Given the description of an element on the screen output the (x, y) to click on. 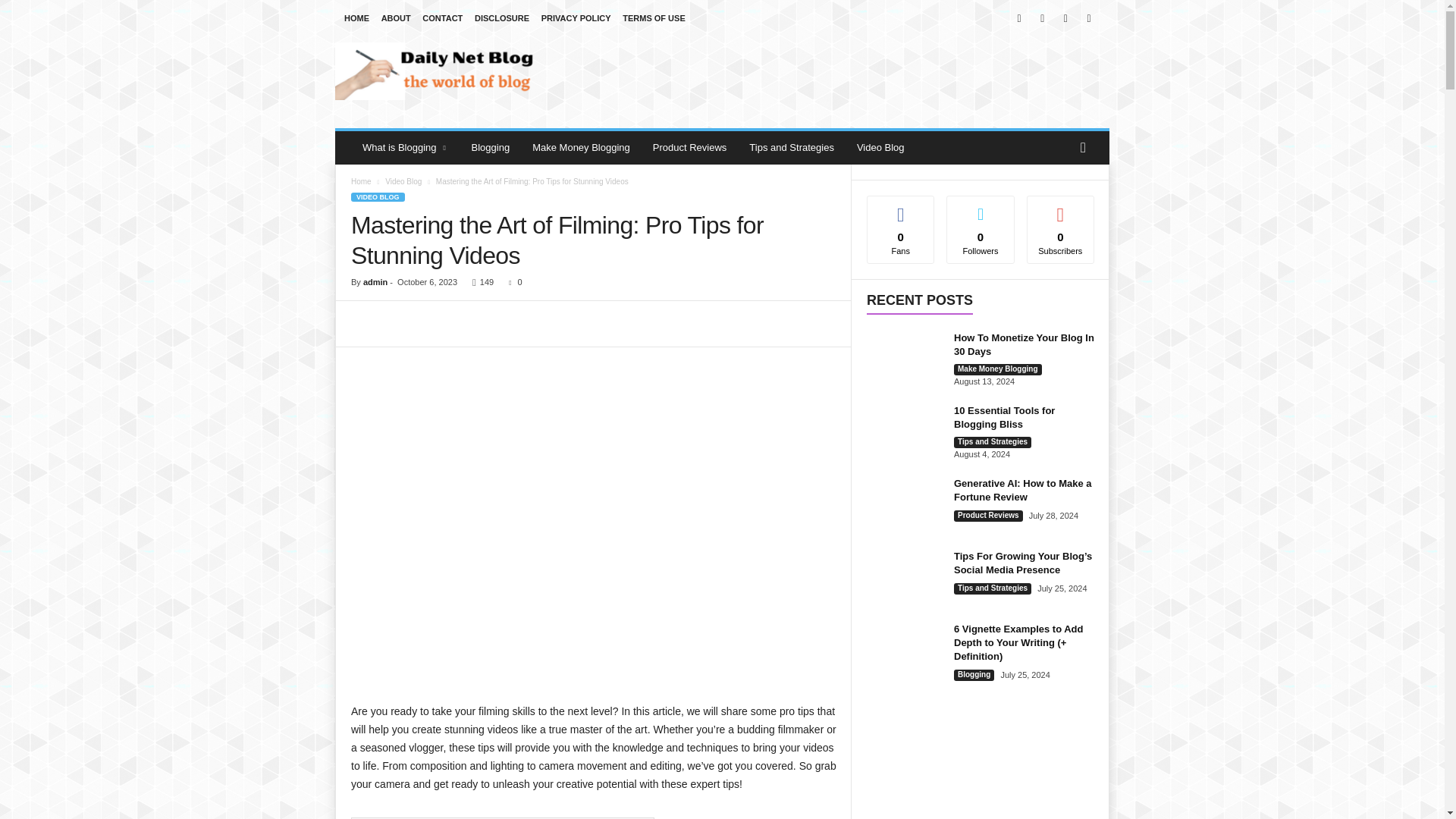
Video Blog (880, 147)
Product Reviews (690, 147)
What is Blogging (405, 147)
ABOUT (395, 17)
Blogging (490, 147)
HOME (356, 17)
TERMS OF USE (654, 17)
View all posts in Video Blog (403, 181)
Tips and Strategies (791, 147)
Daily Net Blog (437, 70)
